Given the description of an element on the screen output the (x, y) to click on. 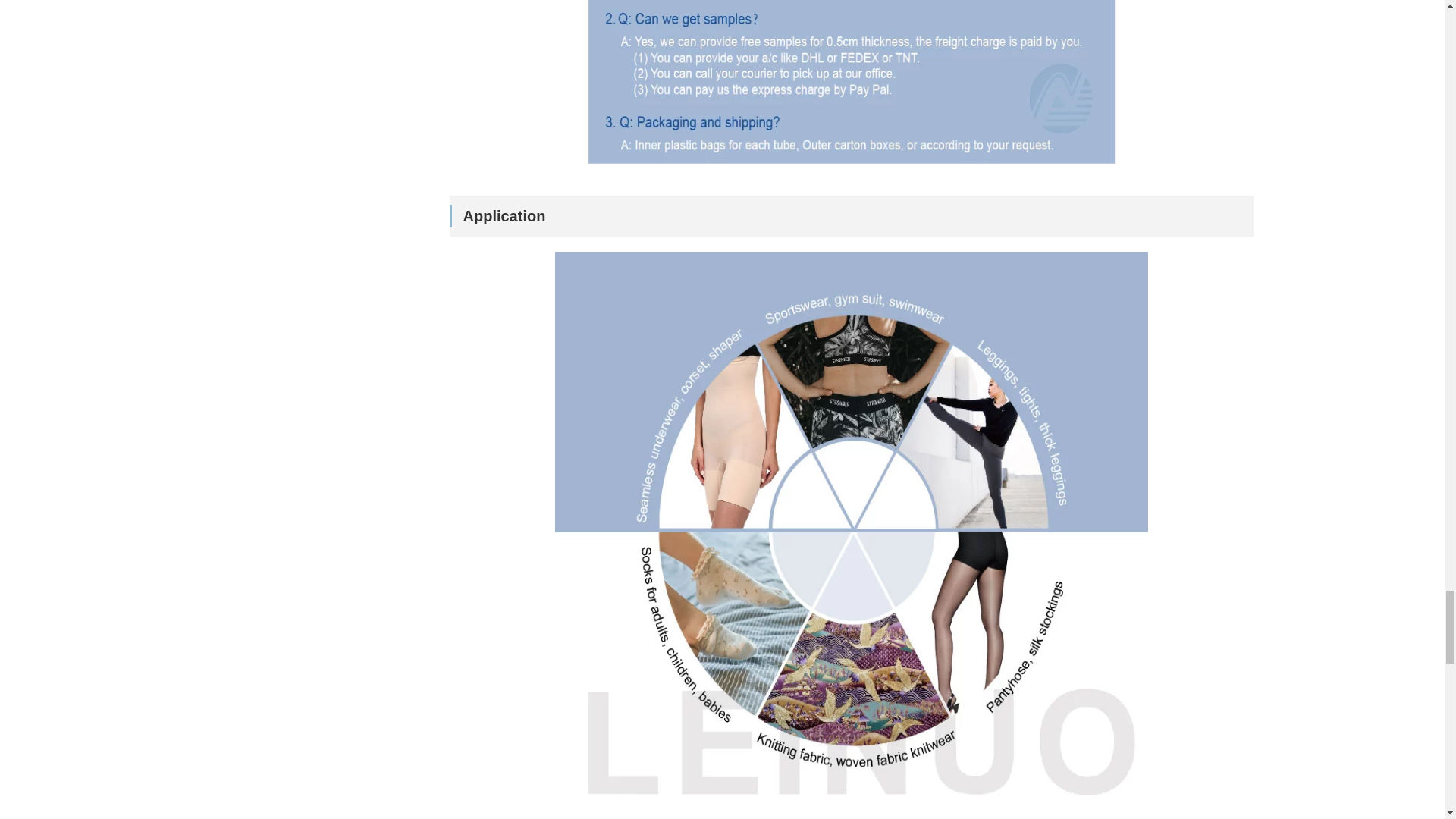
FAQ-01 (850, 92)
